Given the description of an element on the screen output the (x, y) to click on. 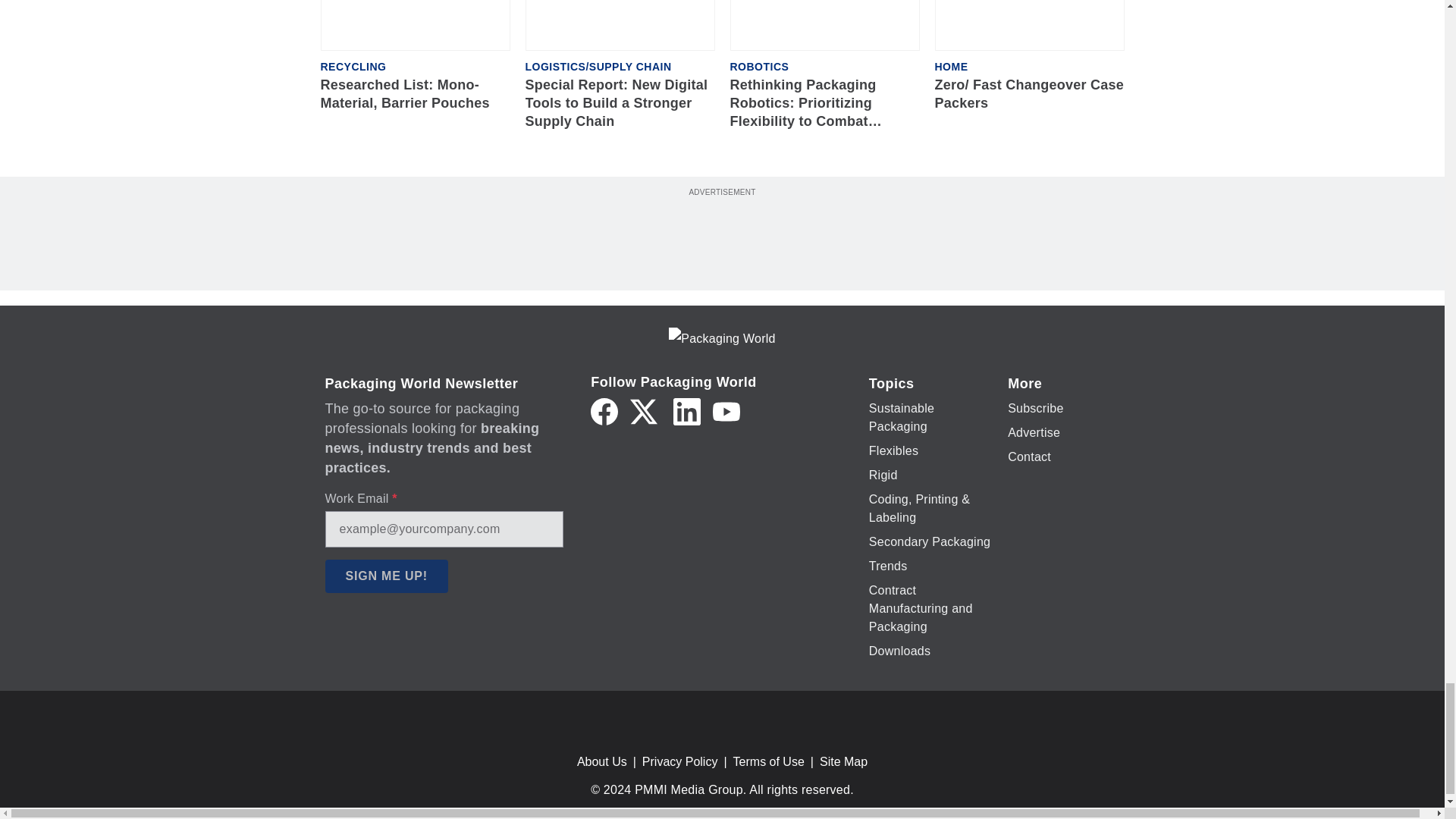
LinkedIn icon (686, 411)
Facebook icon (604, 411)
Twitter X icon (644, 411)
